Given the description of an element on the screen output the (x, y) to click on. 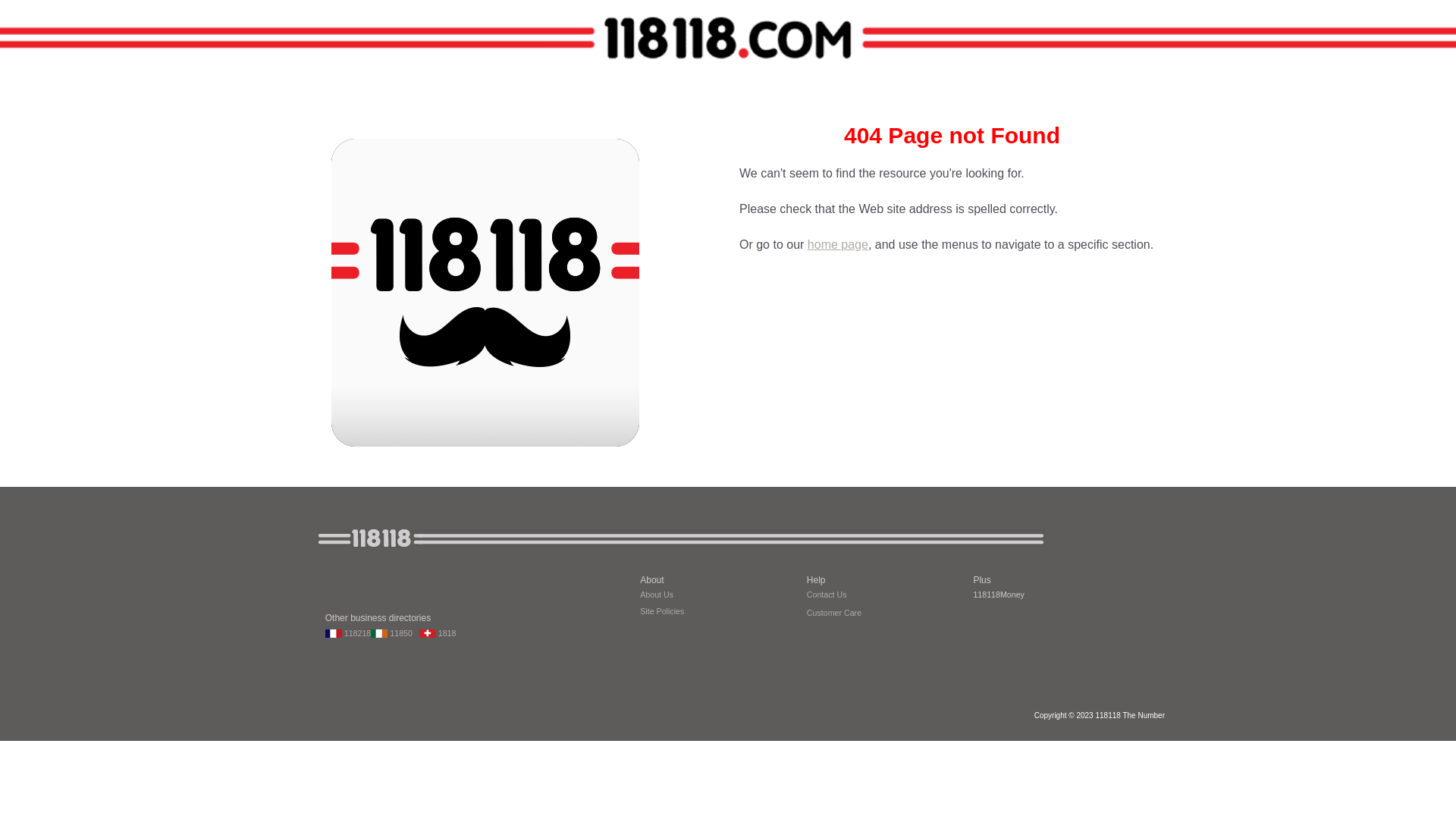
1818 Element type: text (437, 632)
 11850   Element type: text (394, 632)
118218 Element type: text (348, 632)
About Us Element type: text (656, 594)
home page Element type: text (837, 244)
Site Policies Element type: text (662, 610)
118118Money Element type: text (998, 594)
Customer Care Element type: text (833, 610)
Contact Us Element type: text (826, 592)
